Given the description of an element on the screen output the (x, y) to click on. 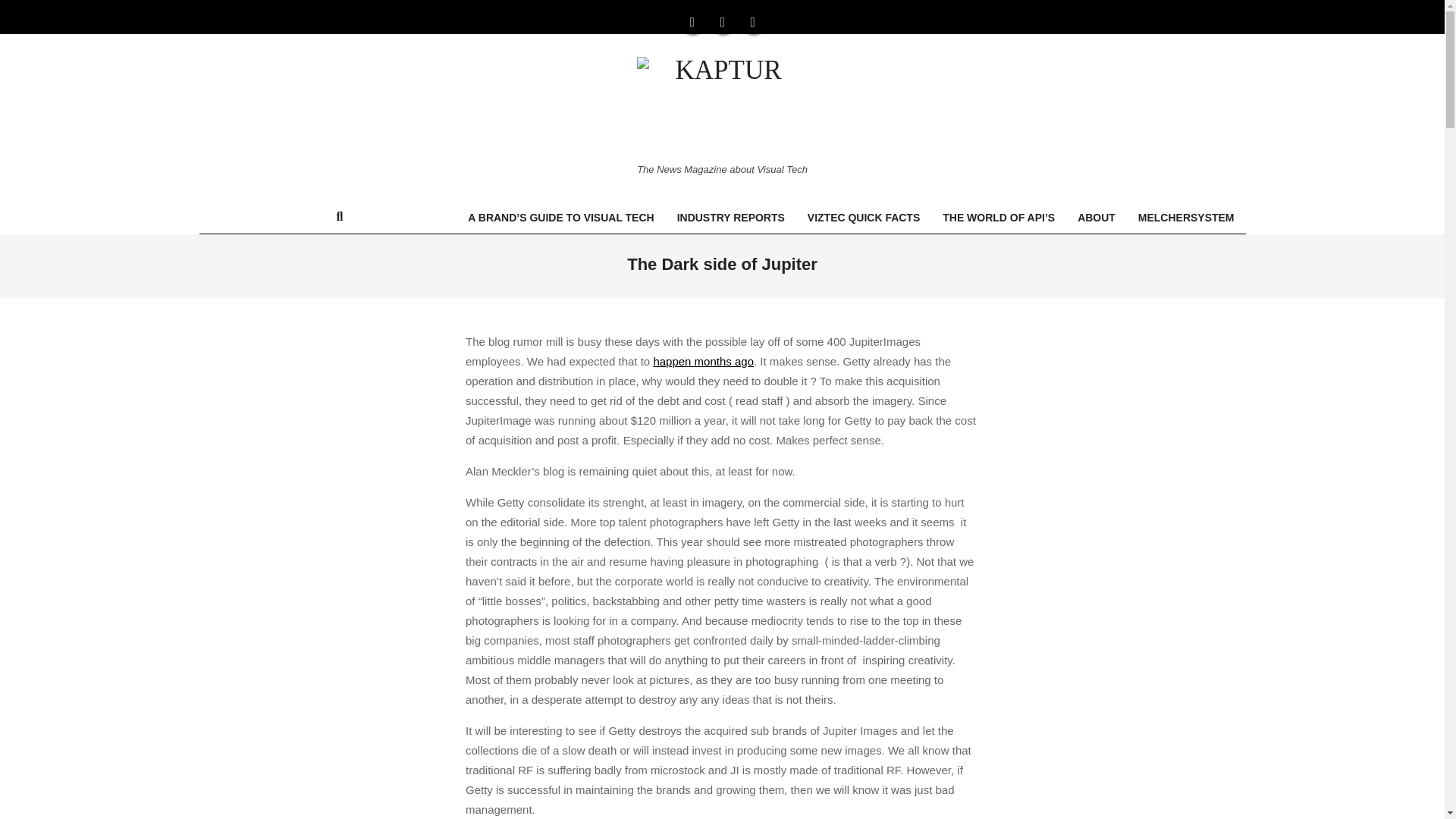
Search (21, 8)
Dirty laundry (703, 360)
happen months ago (703, 360)
INDUSTRY REPORTS (730, 217)
ABOUT (1095, 217)
VIZTEC QUICK FACTS (863, 217)
MELCHERSYSTEM (1186, 217)
